Given the description of an element on the screen output the (x, y) to click on. 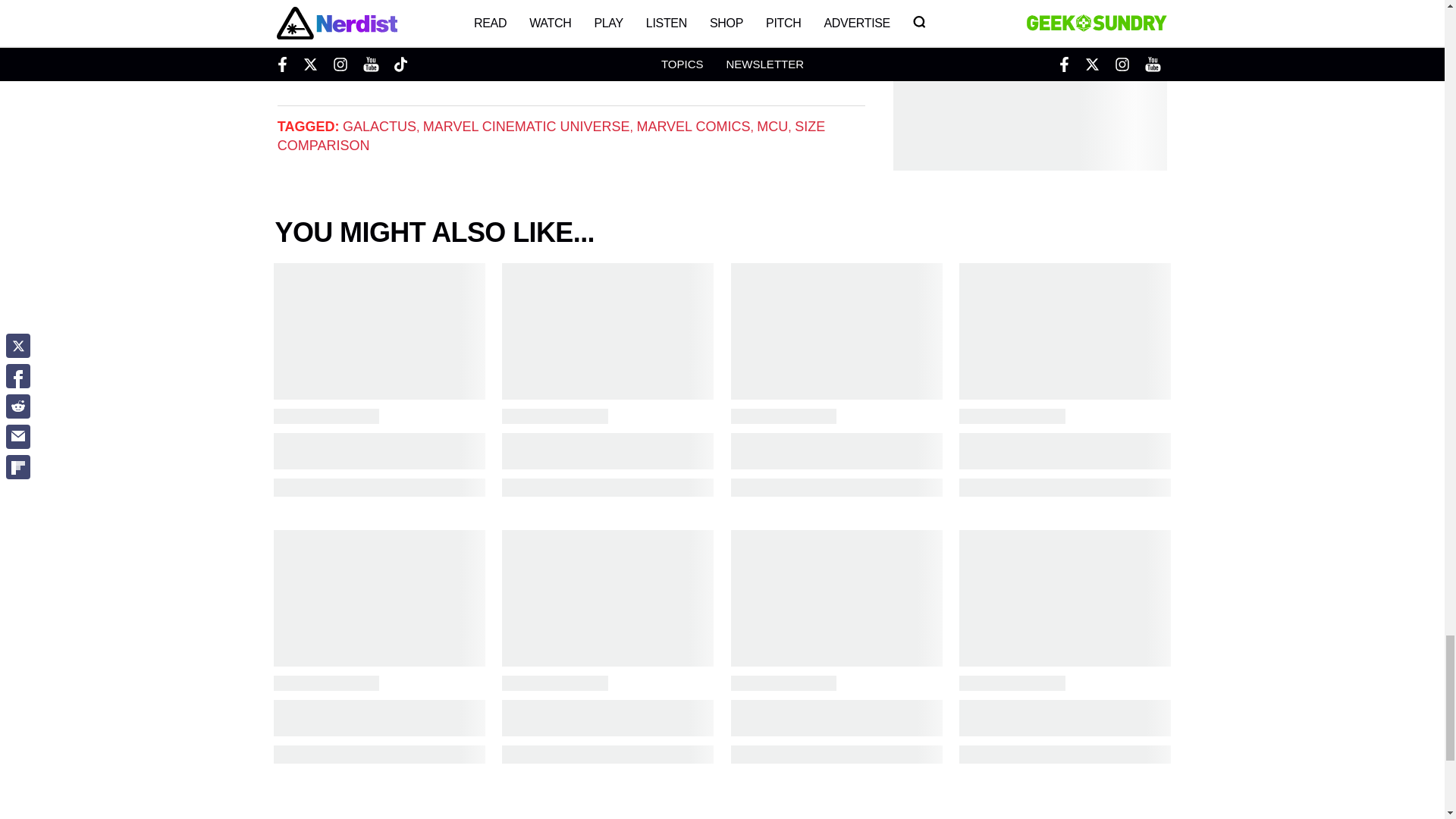
GALACTUS (379, 126)
Speaking of Galactus (335, 15)
MCU (772, 126)
MARVEL COMICS (692, 126)
MARVEL CINEMATIC UNIVERSE (526, 126)
SIZE COMPARISON (551, 135)
